Given the description of an element on the screen output the (x, y) to click on. 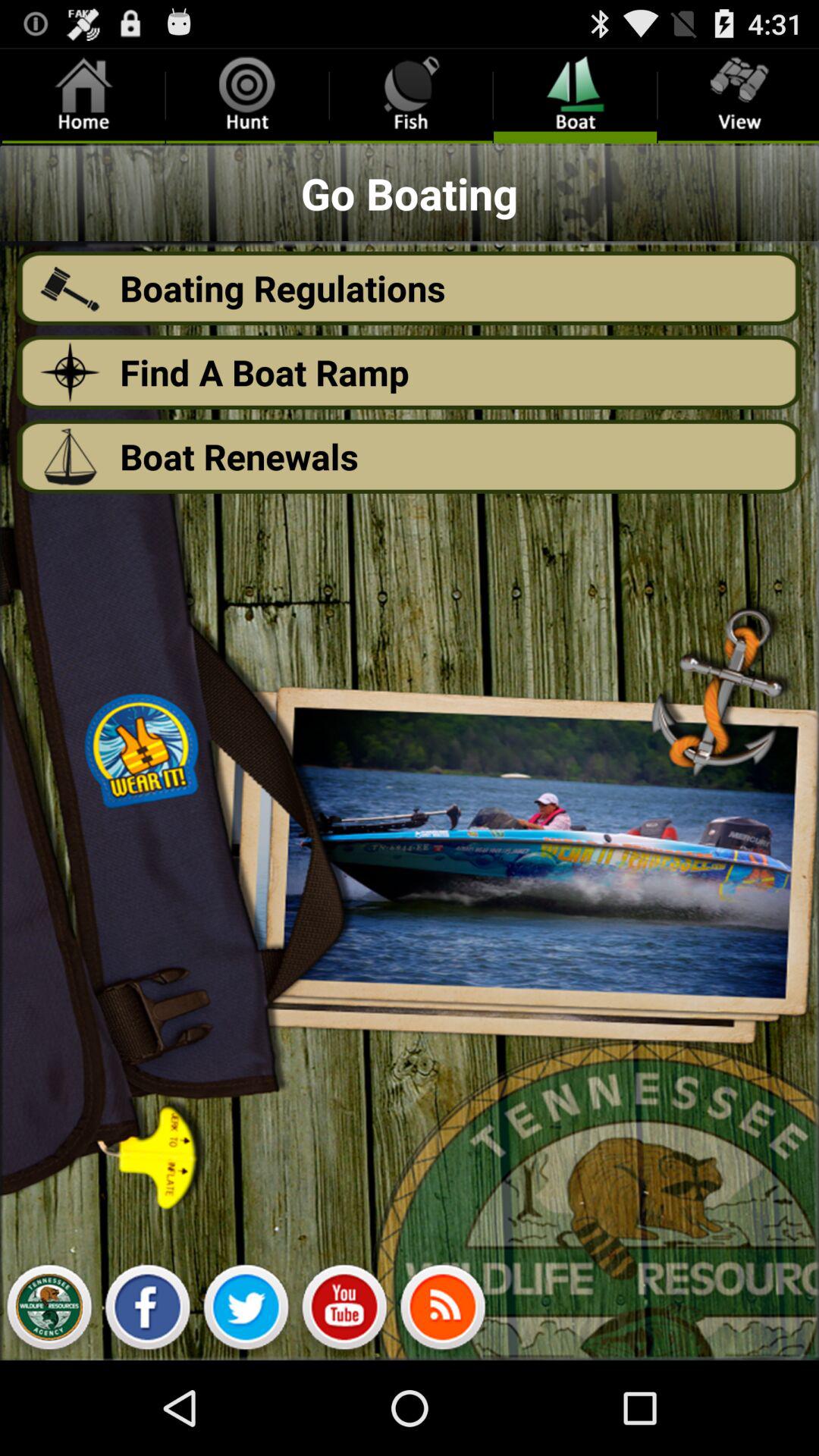
connect wifi (442, 1311)
